Given the description of an element on the screen output the (x, y) to click on. 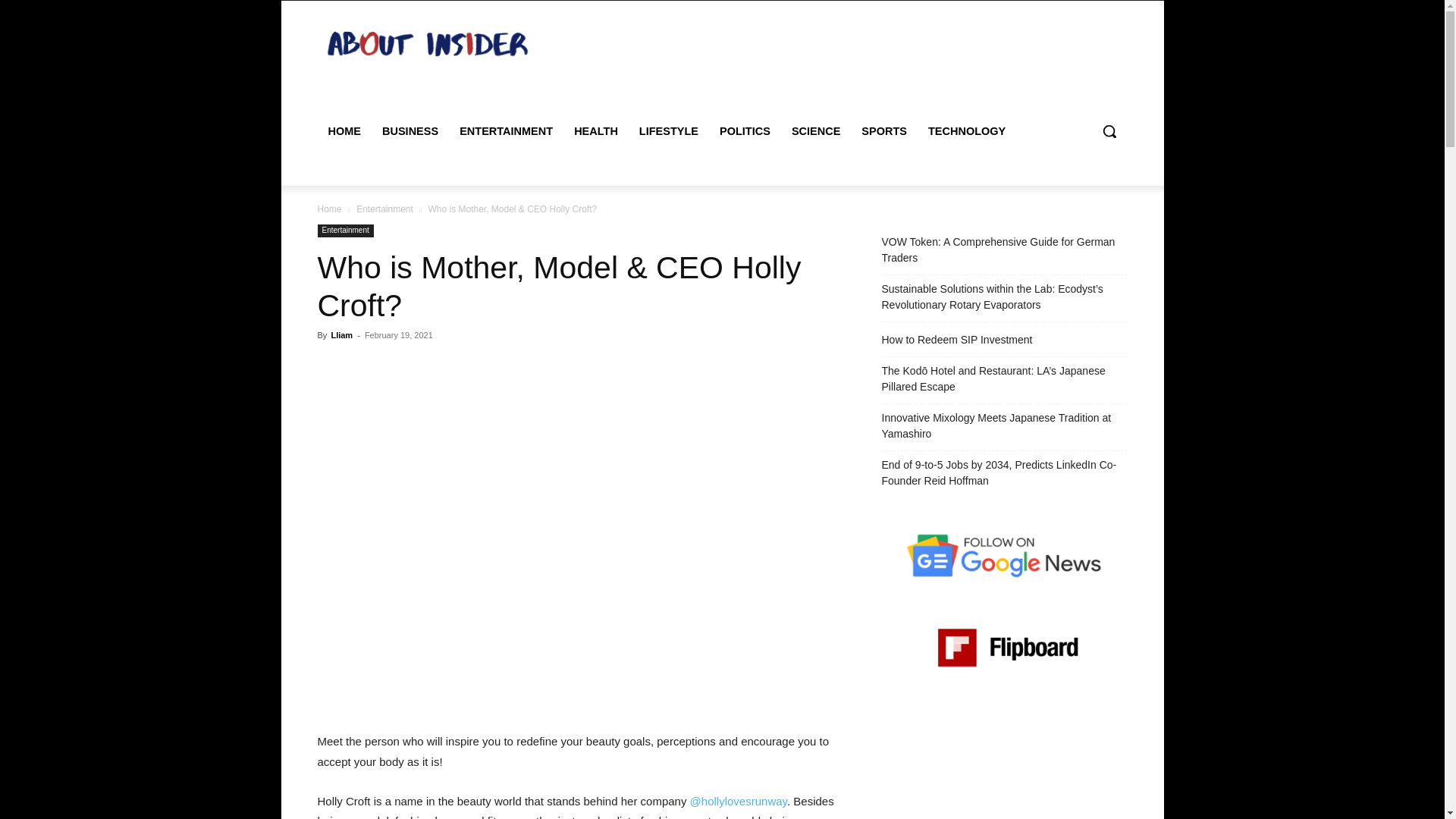
Entertainment (384, 208)
LIFESTYLE (668, 131)
View all posts in Entertainment (384, 208)
SPORTS (883, 131)
SCIENCE (815, 131)
Home (328, 208)
HEALTH (595, 131)
HOME (344, 131)
BUSINESS (409, 131)
Lliam (341, 334)
Entertainment (344, 230)
POLITICS (744, 131)
TECHNOLOGY (966, 131)
ENTERTAINMENT (505, 131)
